Given the description of an element on the screen output the (x, y) to click on. 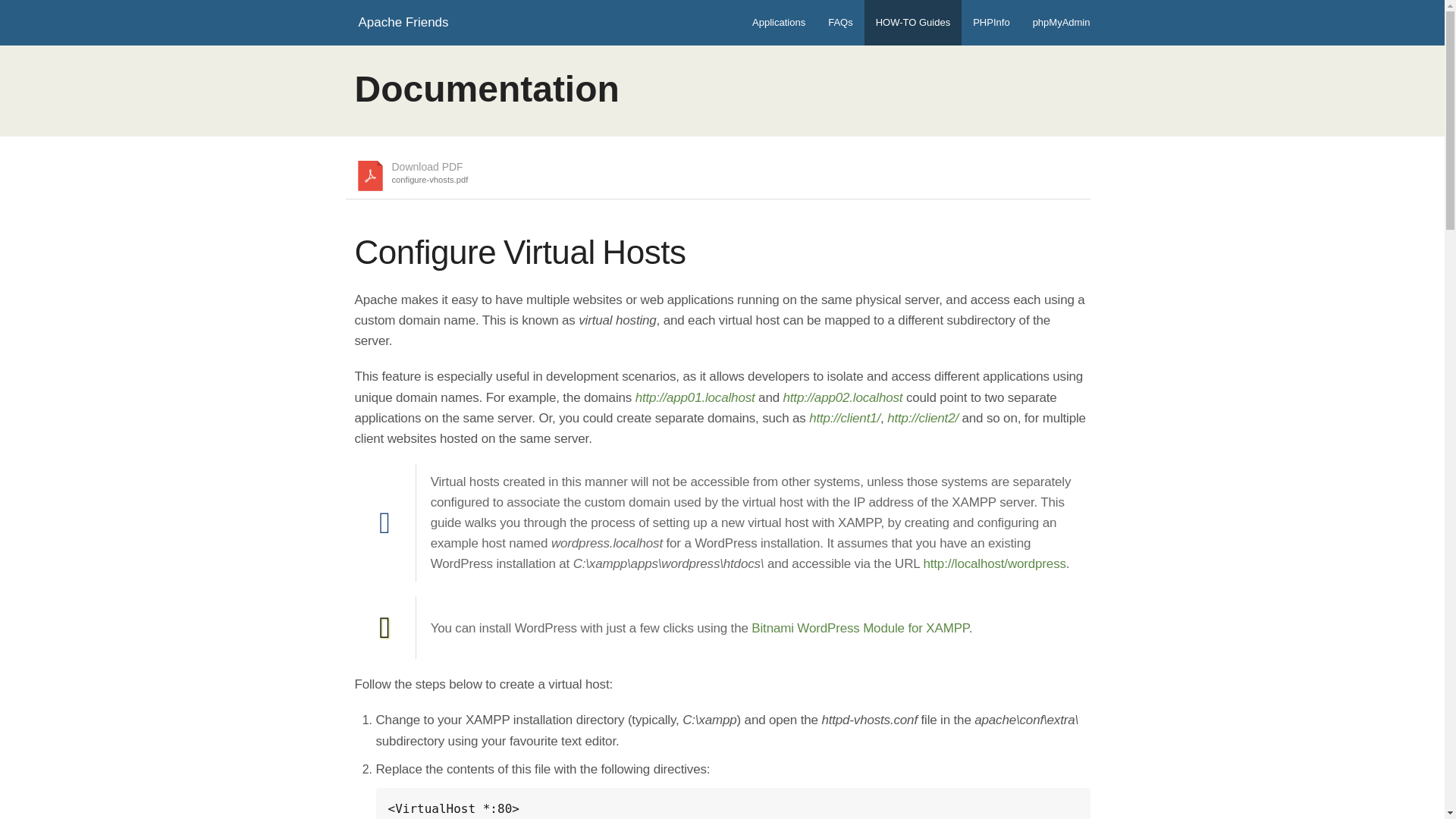
Applications (778, 22)
Apache Friends (413, 175)
phpMyAdmin (402, 22)
HOW-TO Guides (1062, 22)
PHPInfo (912, 22)
FAQs (990, 22)
Bitnami WordPress Module for XAMPP (840, 22)
